Given the description of an element on the screen output the (x, y) to click on. 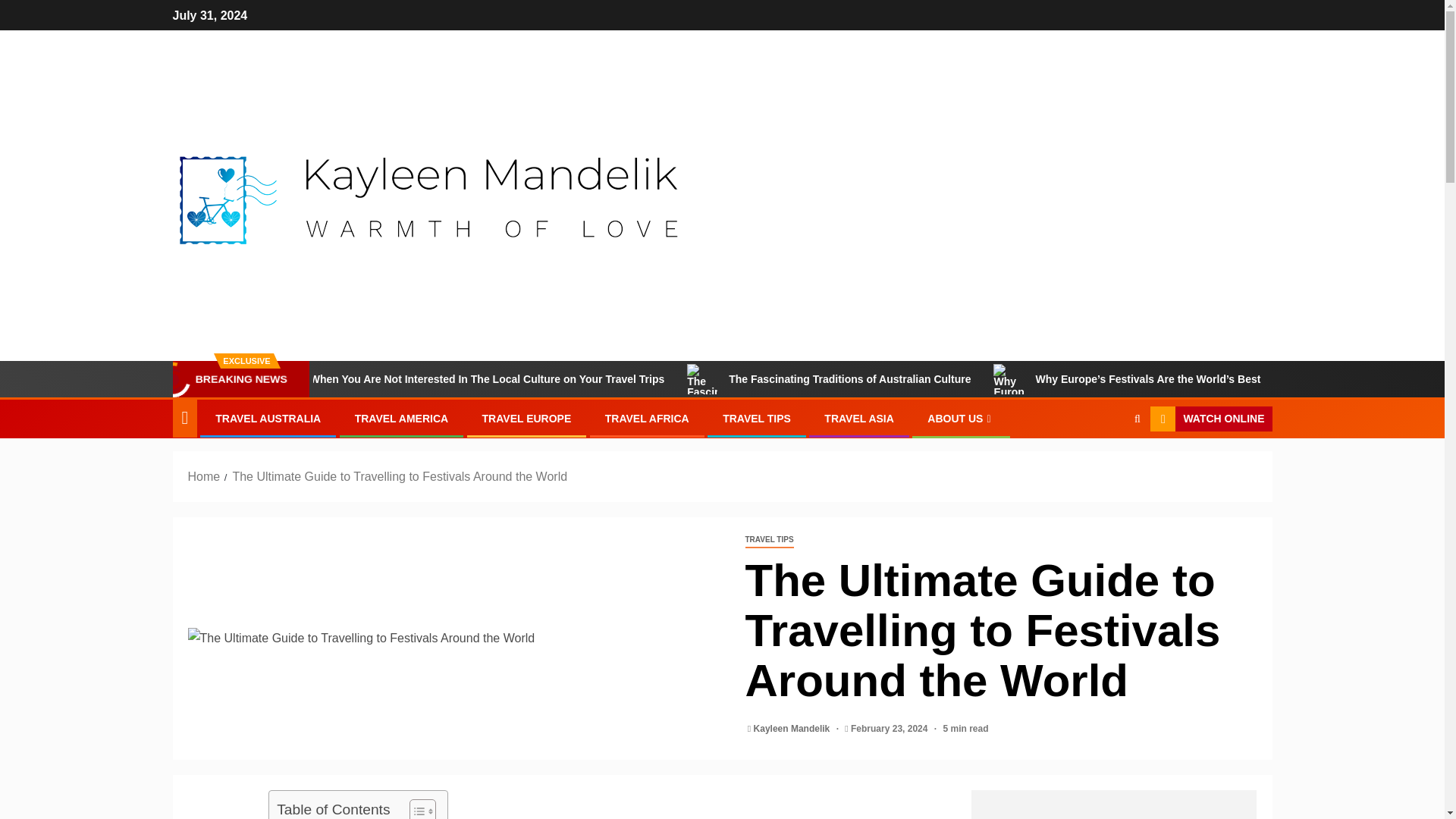
TRAVEL TIPS (768, 539)
TRAVEL ASIA (858, 418)
TRAVEL AFRICA (646, 418)
TRAVEL AUSTRALIA (267, 418)
WATCH ONLINE (1210, 419)
ABOUT US (960, 418)
The Fascinating Traditions of Australian Culture (941, 378)
TRAVEL AMERICA (401, 418)
TRAVEL EUROPE (526, 418)
